Given the description of an element on the screen output the (x, y) to click on. 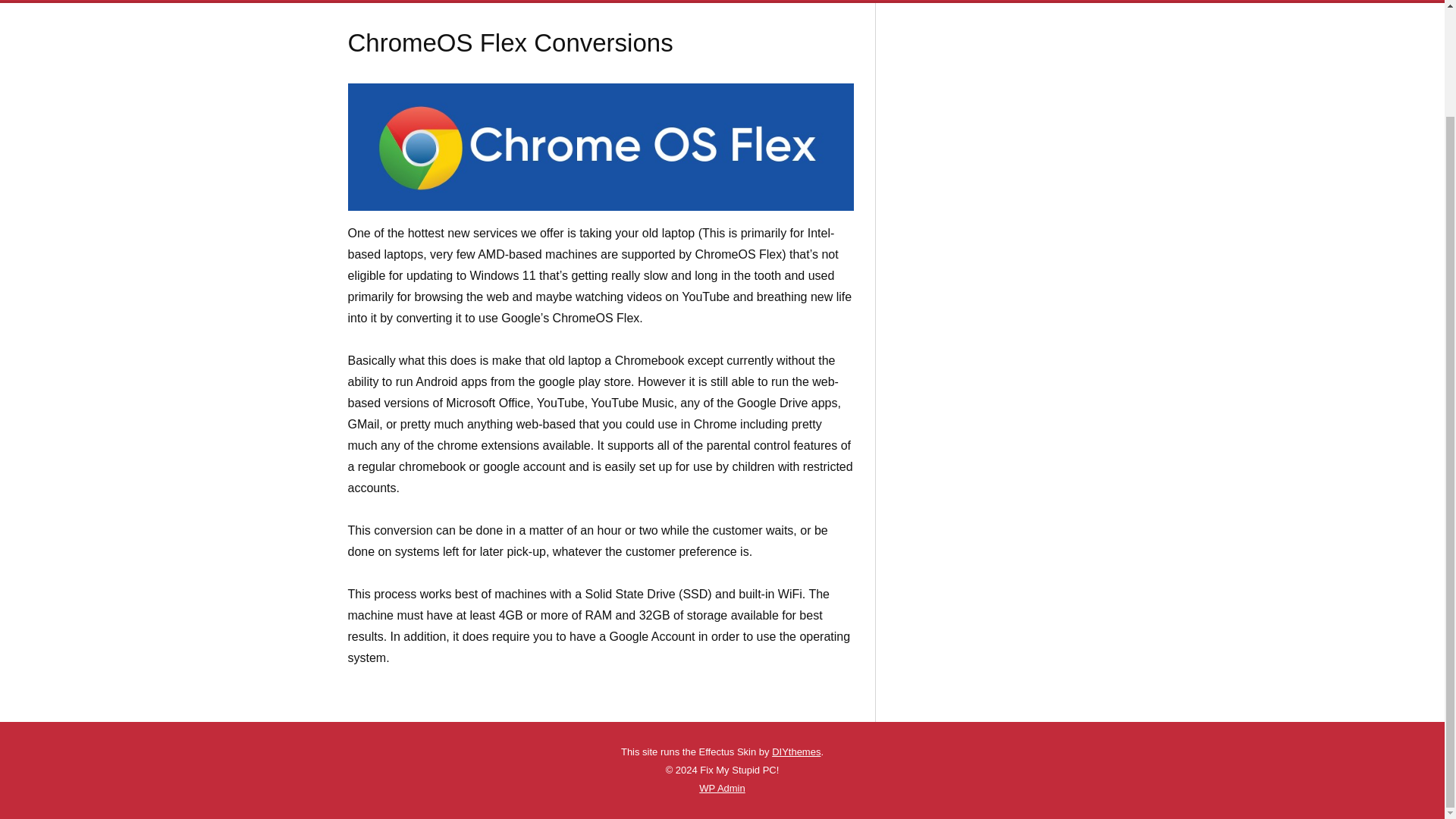
WP Admin (721, 787)
Checkout (935, 0)
DIYthemes (796, 751)
WordPress (706, 787)
Home (430, 0)
Shop (841, 0)
My account (1002, 0)
Solutions (680, 0)
Articles (546, 0)
